Given the description of an element on the screen output the (x, y) to click on. 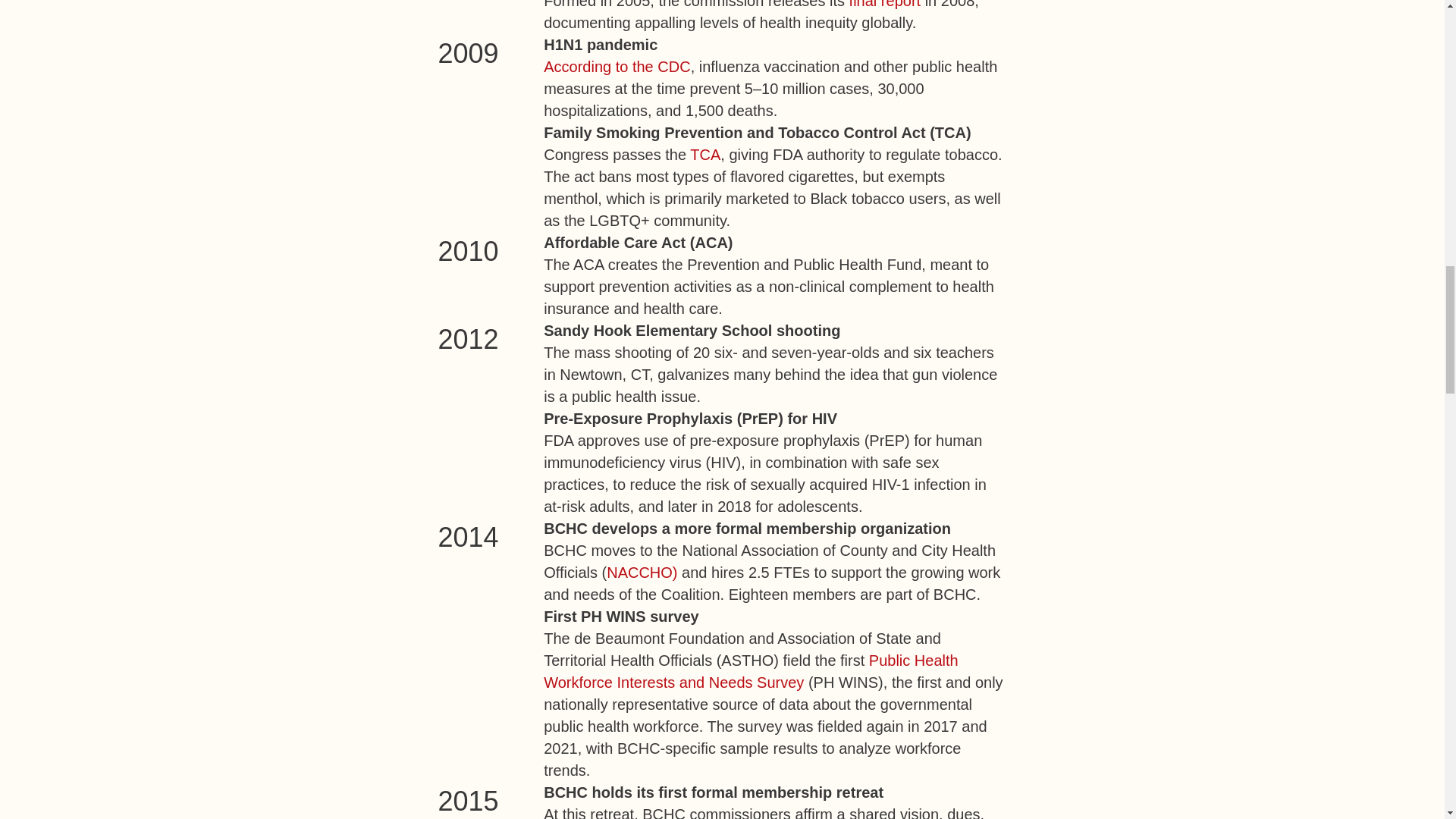
Public Health Workforce Interests and Needs Survey (750, 671)
TCA (705, 154)
final report (884, 4)
According to the CDC (616, 66)
